Given the description of an element on the screen output the (x, y) to click on. 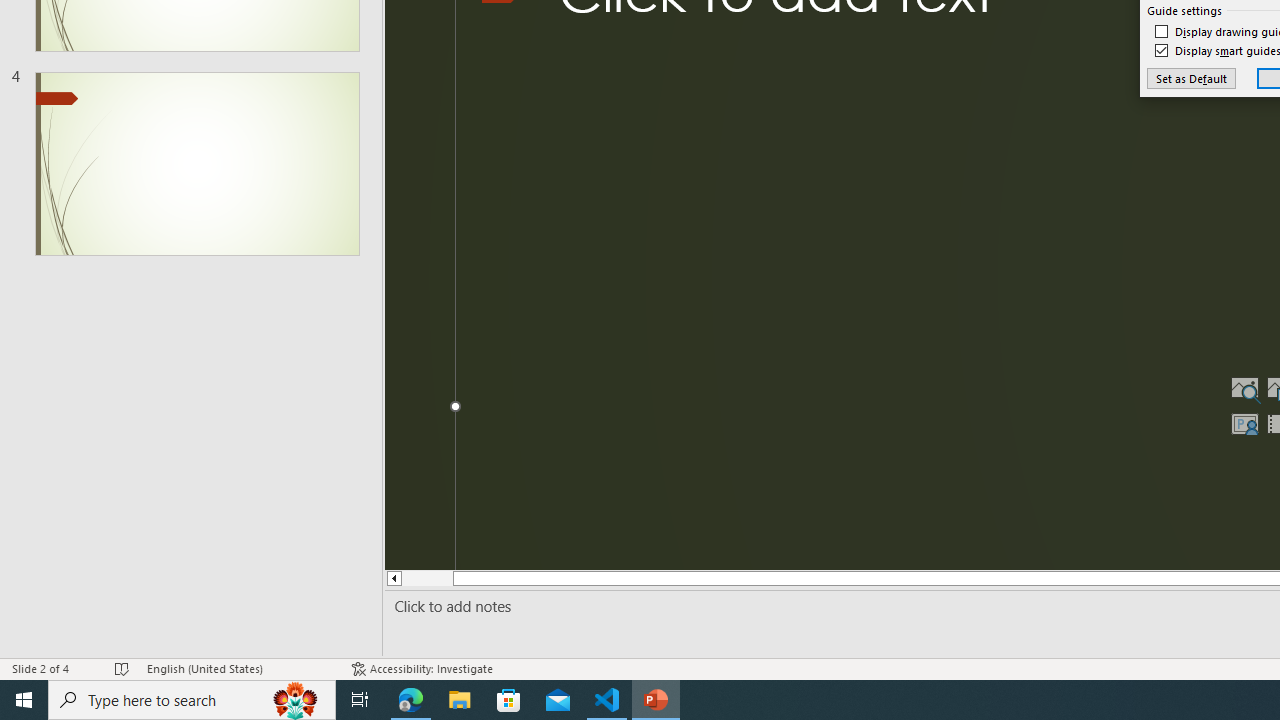
Stock Images (1244, 387)
Insert Cameo (1244, 423)
